Given the description of an element on the screen output the (x, y) to click on. 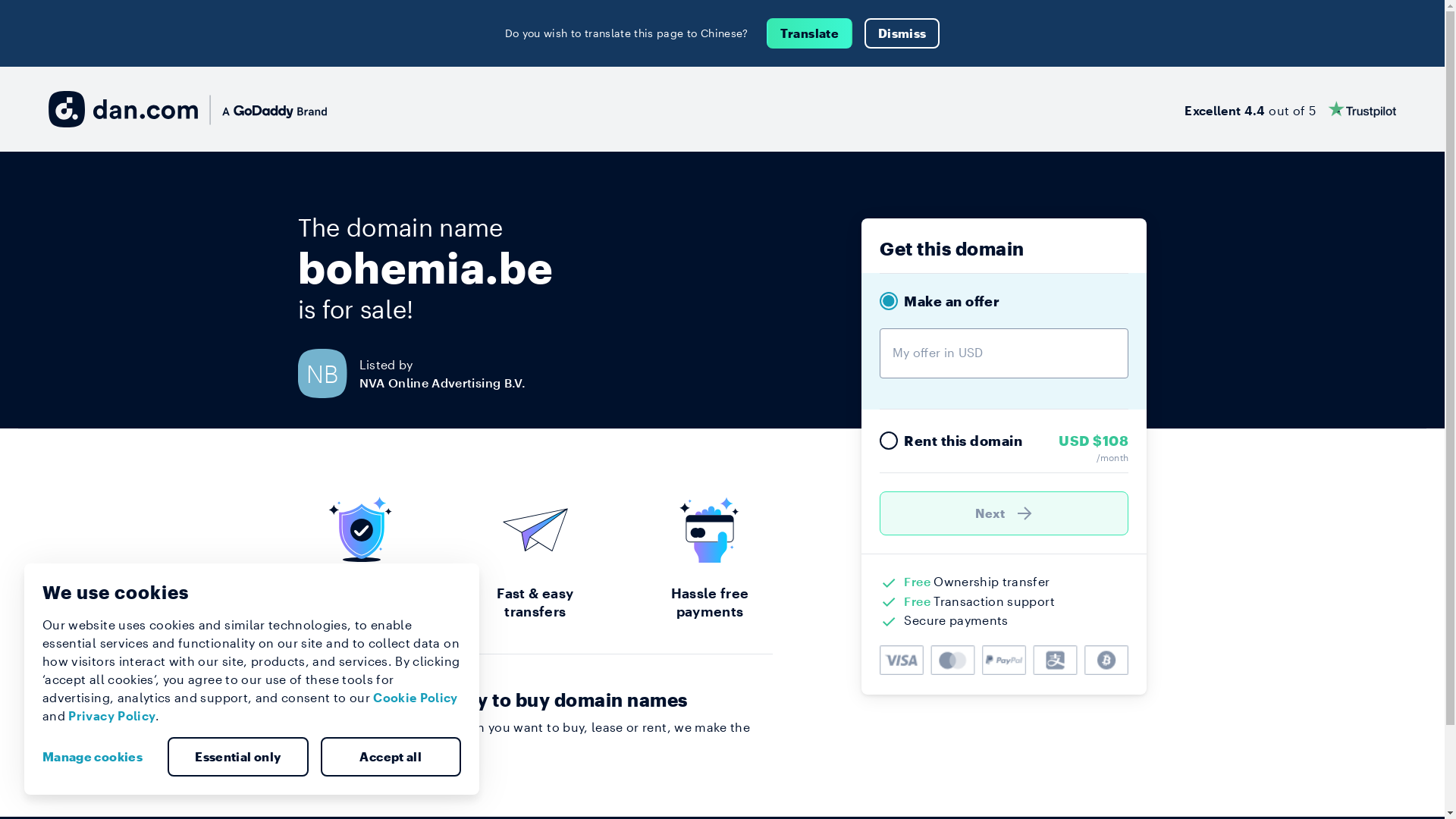
Excellent 4.4 out of 5 Element type: text (1290, 109)
Manage cookies Element type: text (98, 756)
Privacy Policy Element type: text (111, 715)
Next
) Element type: text (1003, 513)
Dismiss Element type: text (901, 33)
Cookie Policy Element type: text (415, 697)
Accept all Element type: text (390, 756)
Essential only Element type: text (237, 756)
Translate Element type: text (809, 33)
